Given the description of an element on the screen output the (x, y) to click on. 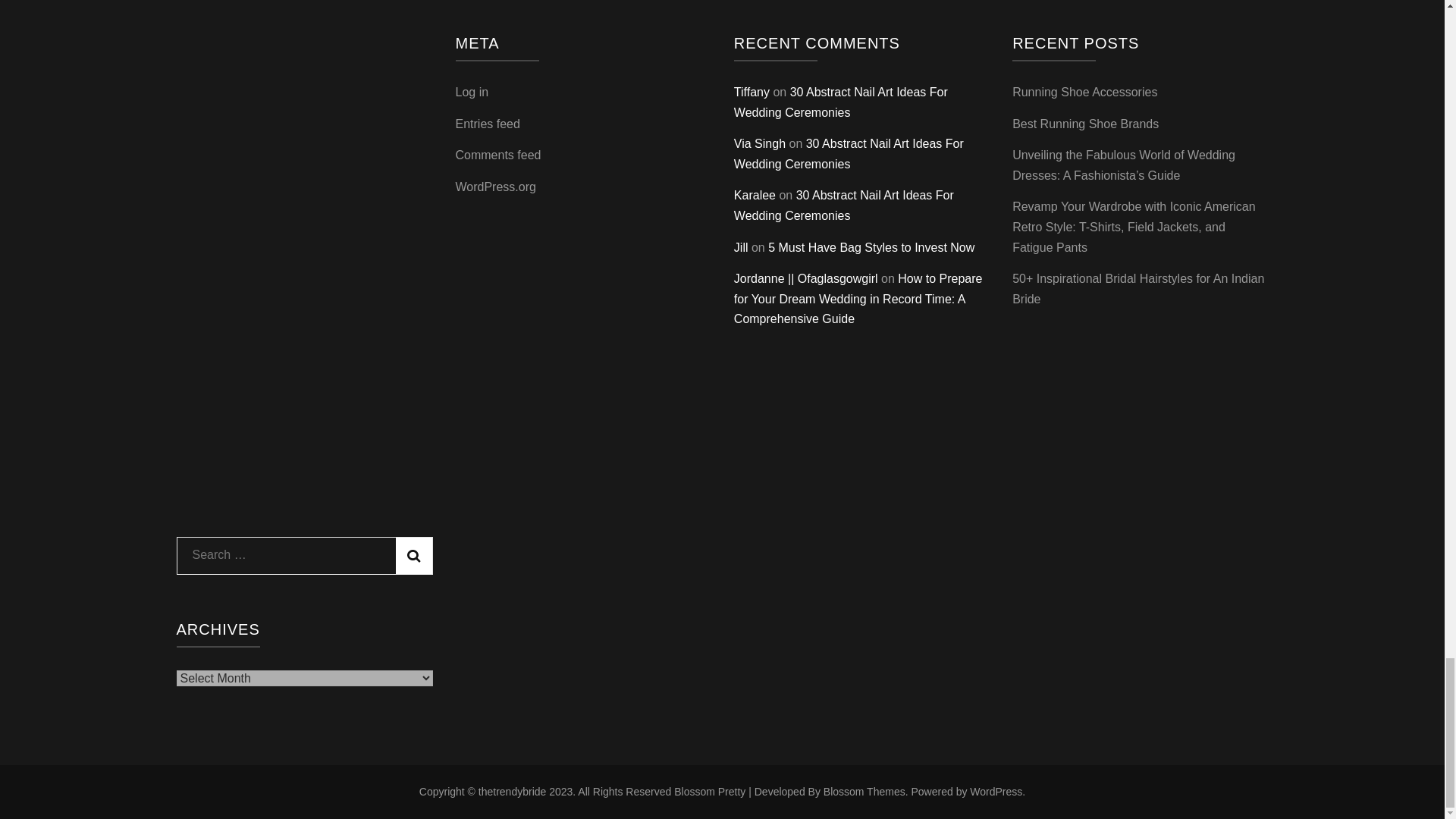
Search (414, 555)
Search (414, 555)
